Given the description of an element on the screen output the (x, y) to click on. 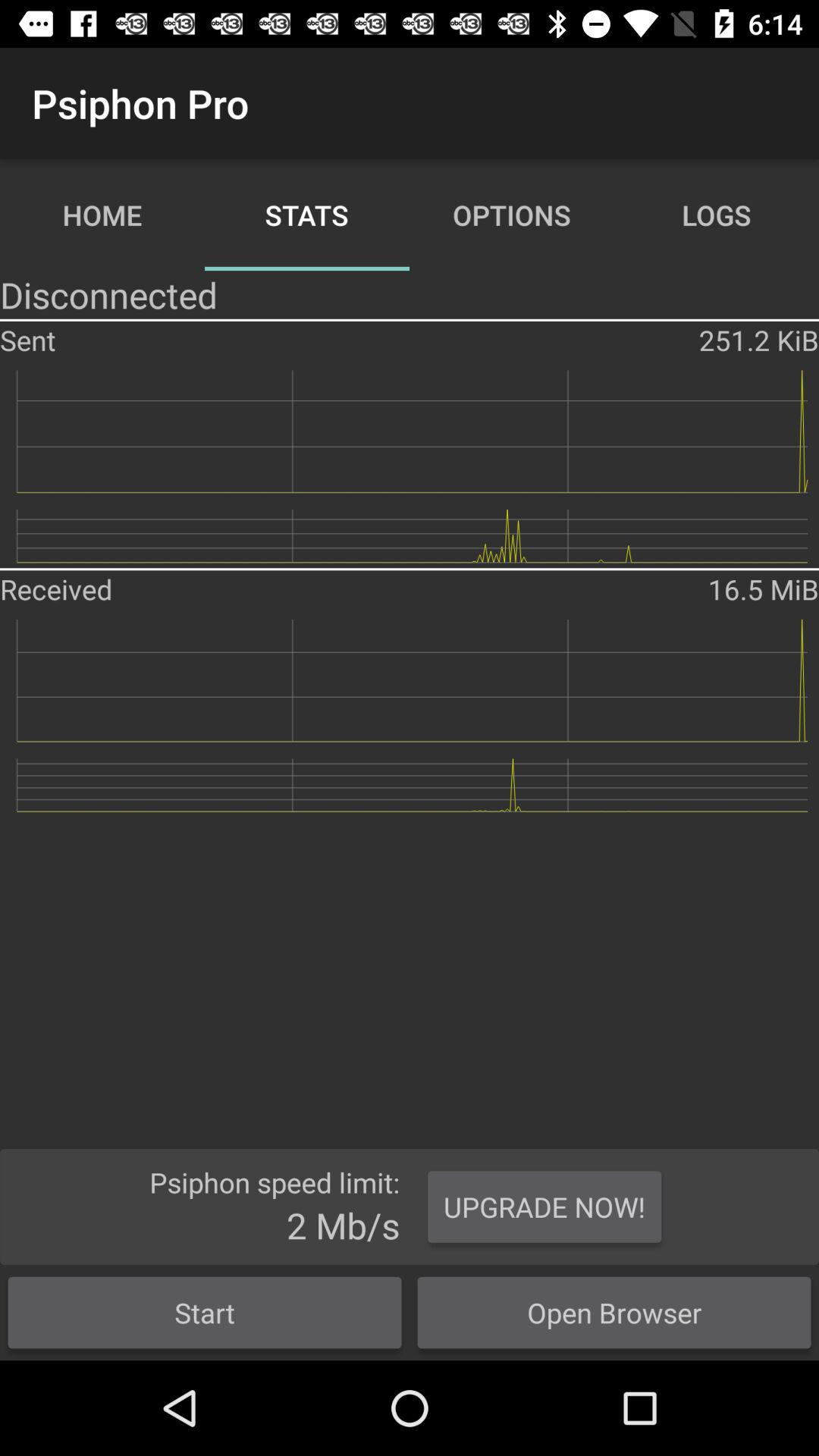
turn off start icon (204, 1312)
